Given the description of an element on the screen output the (x, y) to click on. 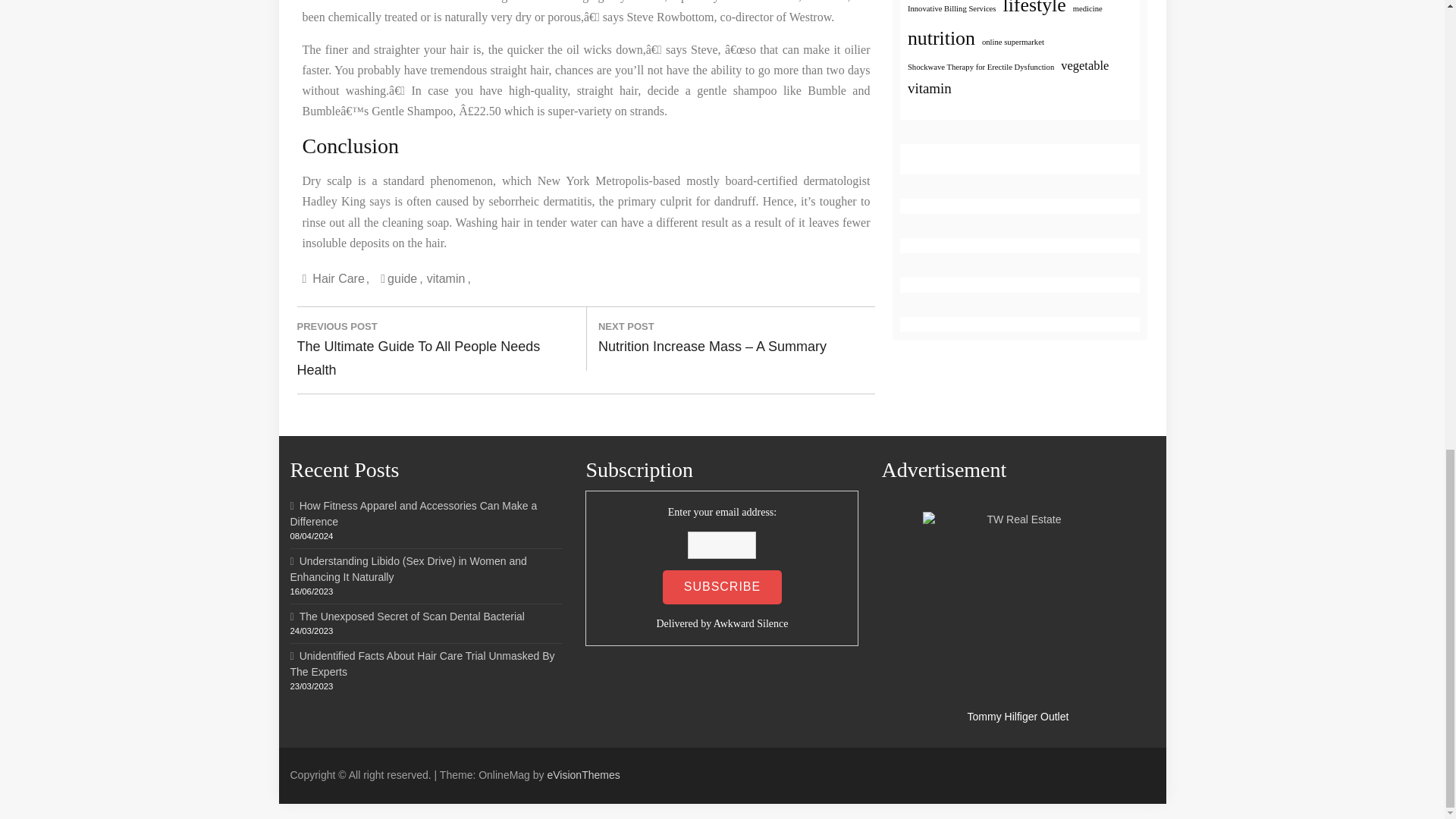
TW Real Estate (1017, 606)
Hair Care (340, 278)
vitamin (448, 278)
guide (405, 278)
Subscribe (721, 587)
